Given the description of an element on the screen output the (x, y) to click on. 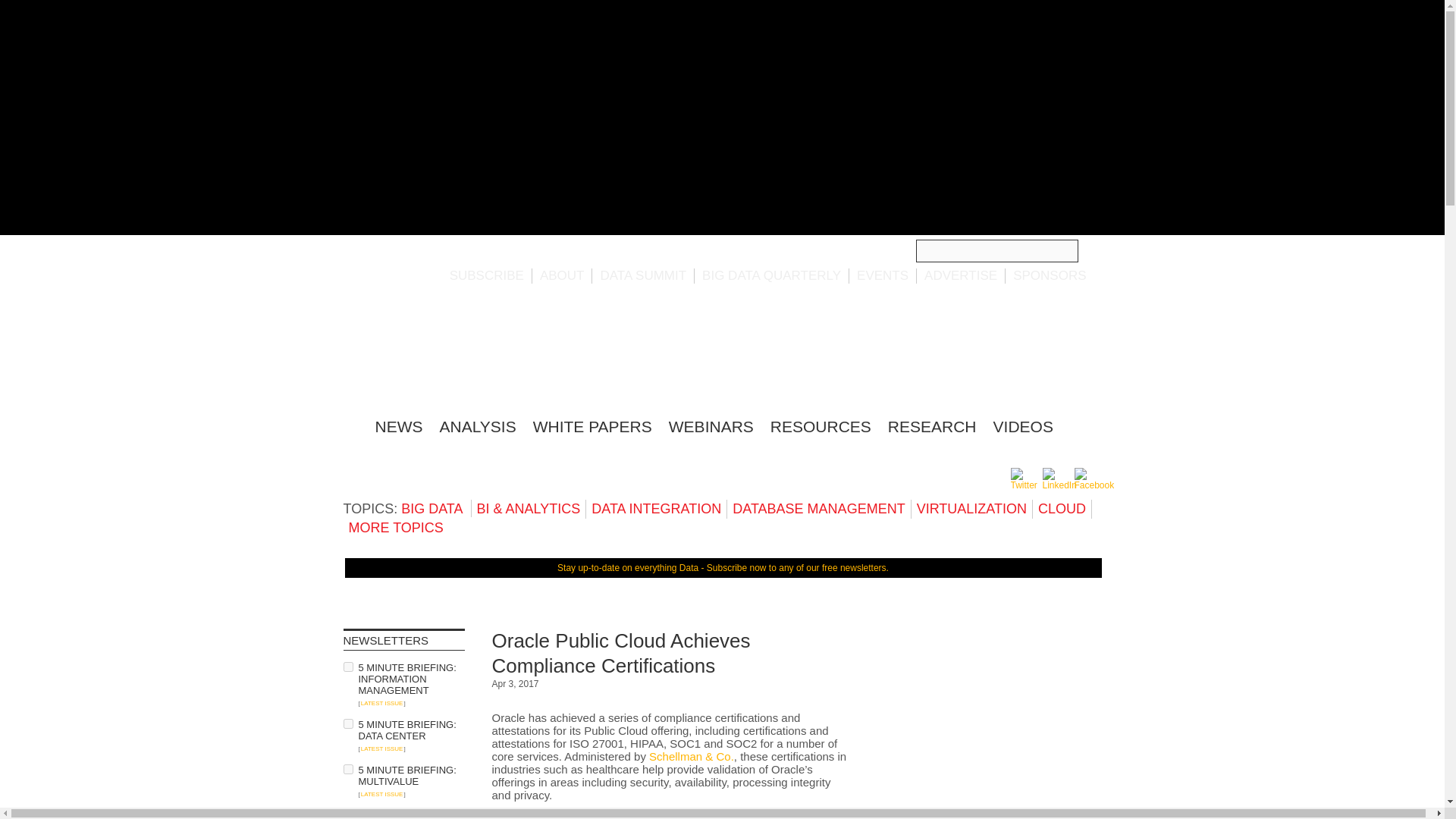
RESOURCES (820, 425)
DBTA on Facebook (1093, 484)
SPONSORS (1049, 275)
WEBINARS (711, 425)
DBTA on LinkedIn (1058, 484)
on (347, 666)
SUBSCRIBE (486, 275)
ANALYSIS (477, 425)
HOME (350, 424)
